Given the description of an element on the screen output the (x, y) to click on. 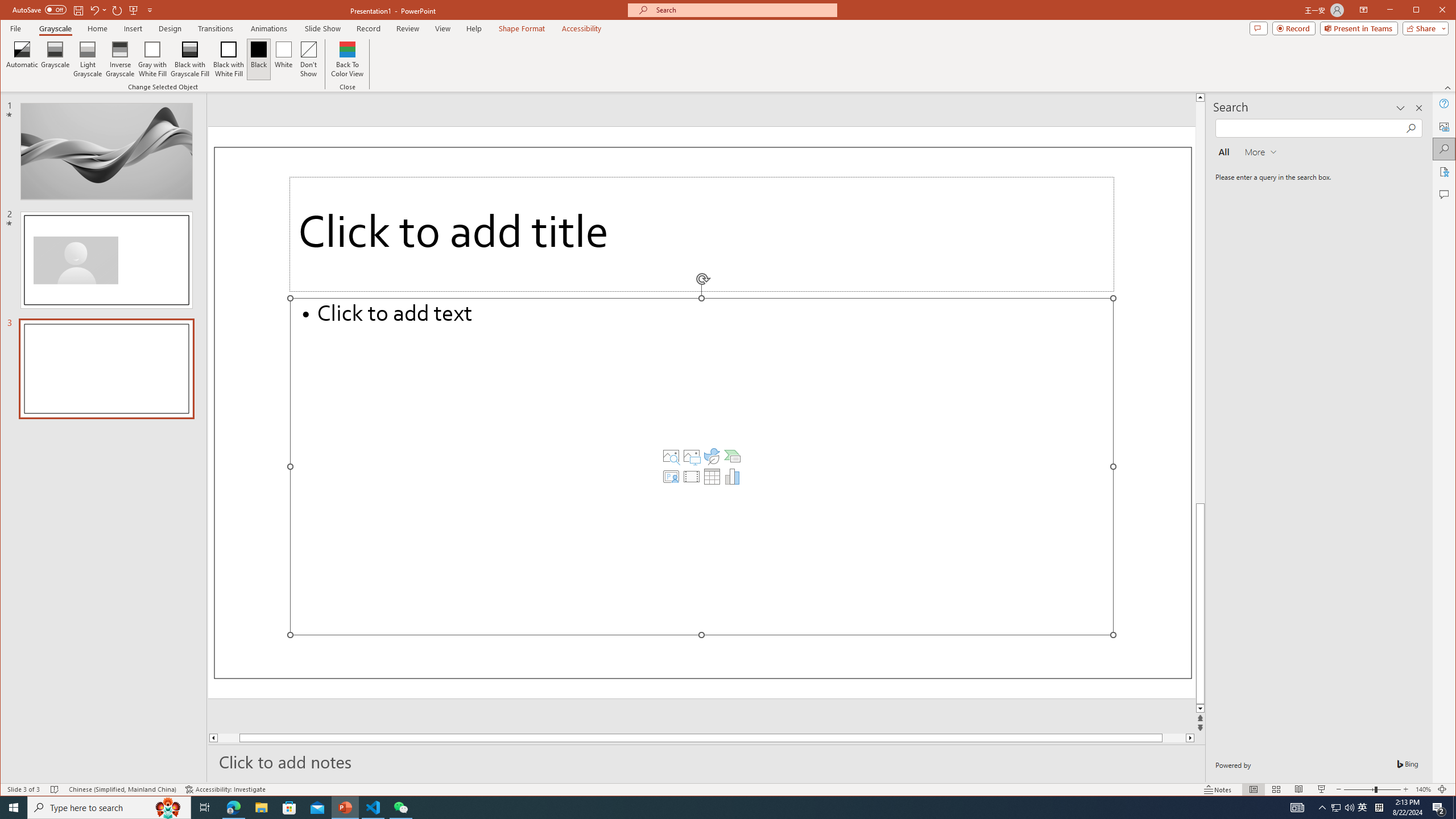
From Beginning (133, 9)
Help (1444, 102)
Tray Input Indicator - Chinese (Simplified, China) (1378, 807)
Slide Notes (706, 761)
Collapse the Ribbon (1448, 87)
Close pane (1418, 107)
Comments (1258, 28)
Share (1422, 27)
Notification Chevron (1322, 807)
Minimize (1419, 11)
Alt Text (1444, 125)
Insert (133, 28)
Automatic (22, 59)
